Given the description of an element on the screen output the (x, y) to click on. 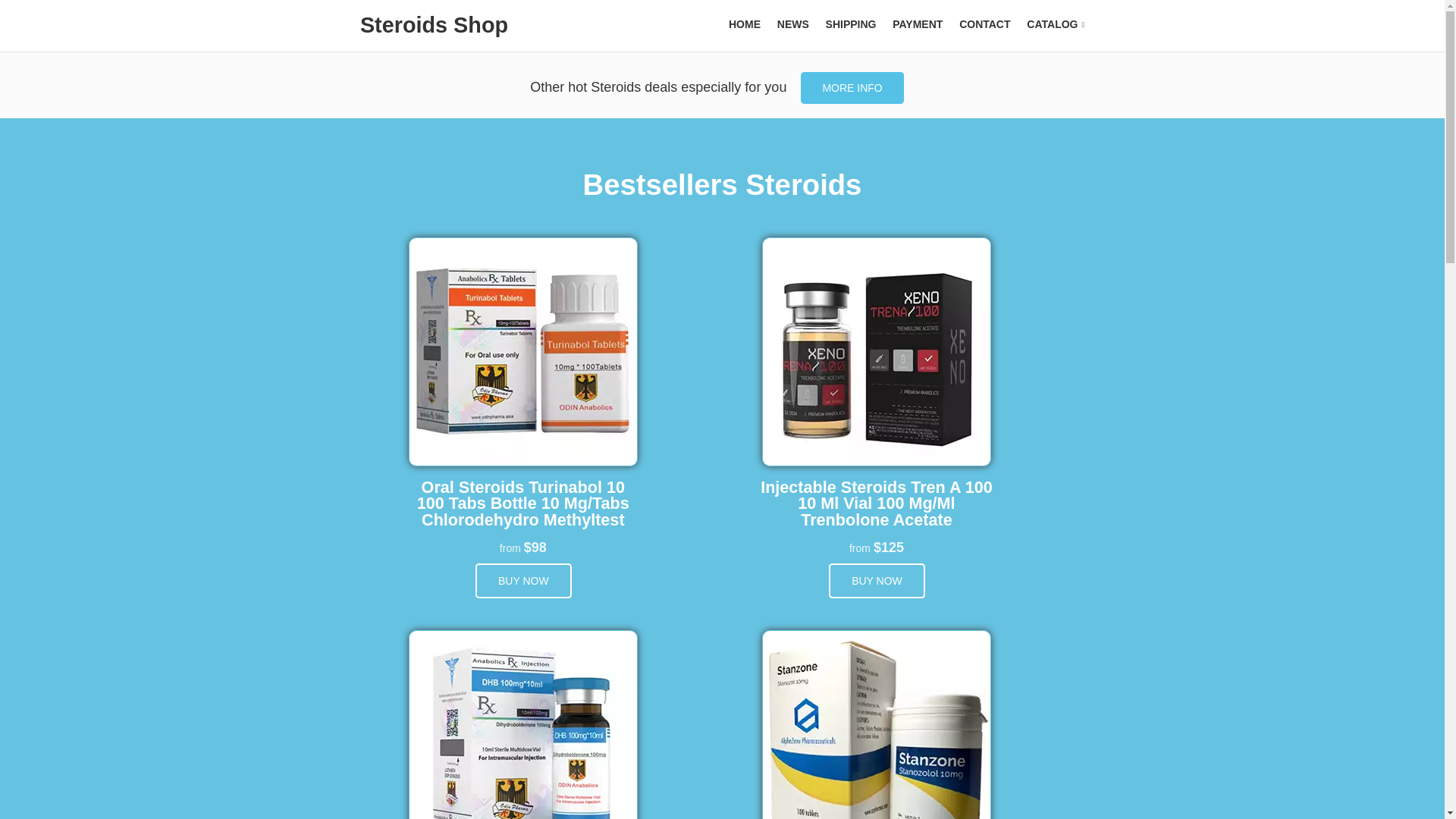
SHIPPING (850, 24)
CATALOG (1055, 24)
MORE INFO (851, 88)
HOME (744, 24)
BUY NOW (876, 580)
BUY NOW (524, 580)
CONTACT (984, 24)
NEWS (793, 24)
Steroids Shop (433, 24)
PAYMENT (917, 24)
